Given the description of an element on the screen output the (x, y) to click on. 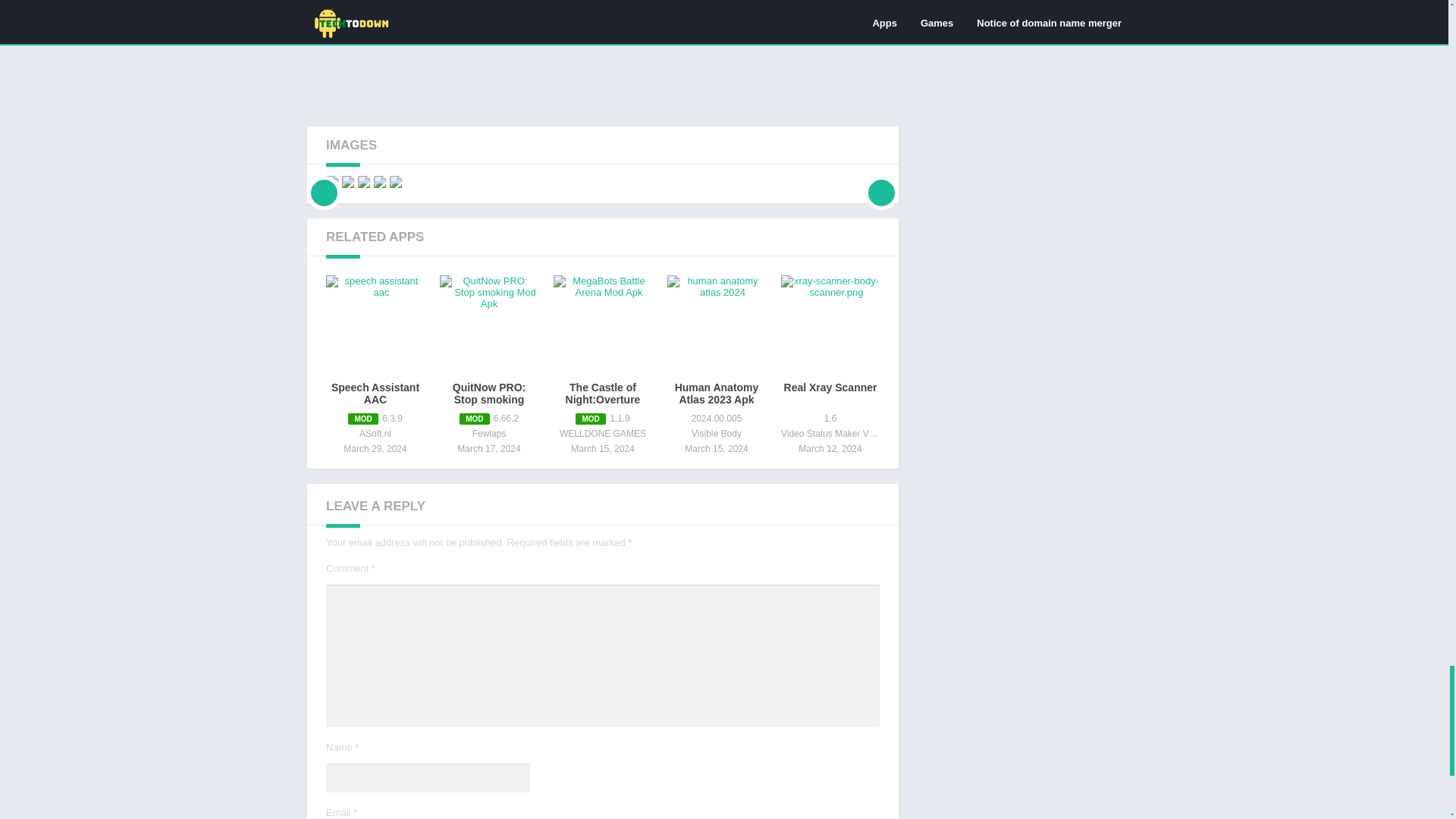
Previous (323, 182)
